Given the description of an element on the screen output the (x, y) to click on. 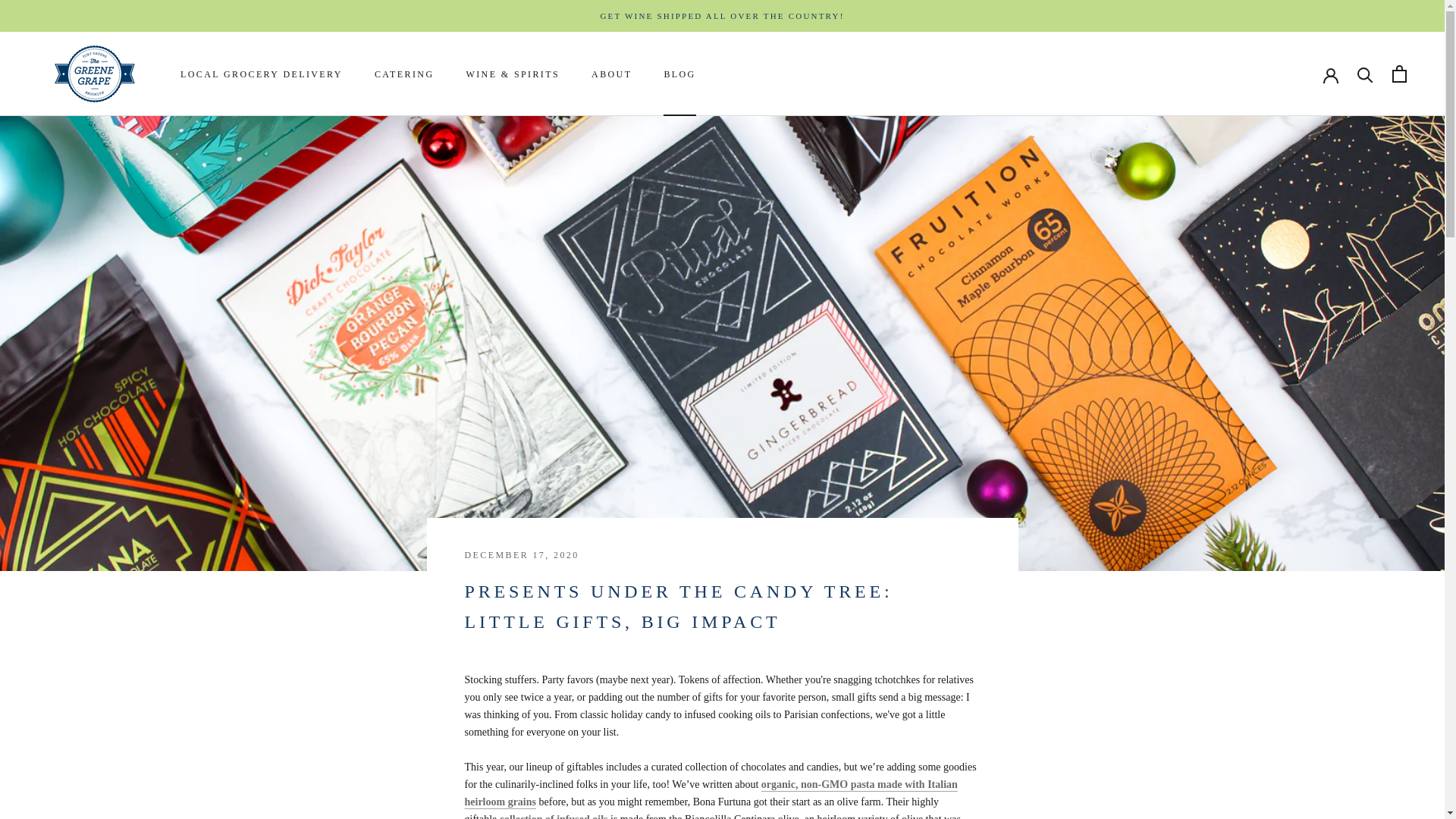
ABOUT (679, 73)
GET WINE SHIPPED ALL OVER THE COUNTRY! (611, 73)
